Given the description of an element on the screen output the (x, y) to click on. 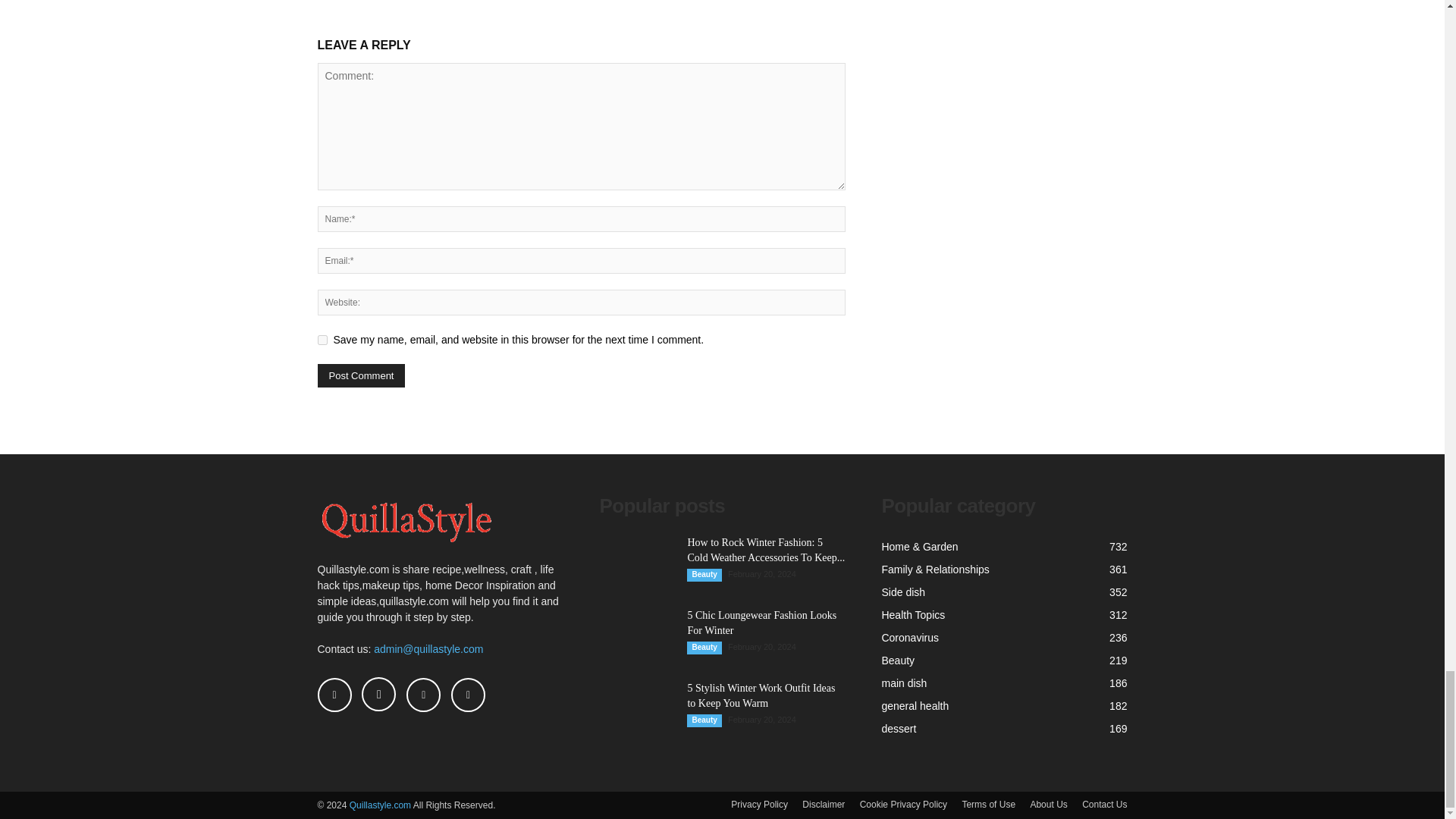
Post Comment (360, 375)
yes (321, 339)
